Given the description of an element on the screen output the (x, y) to click on. 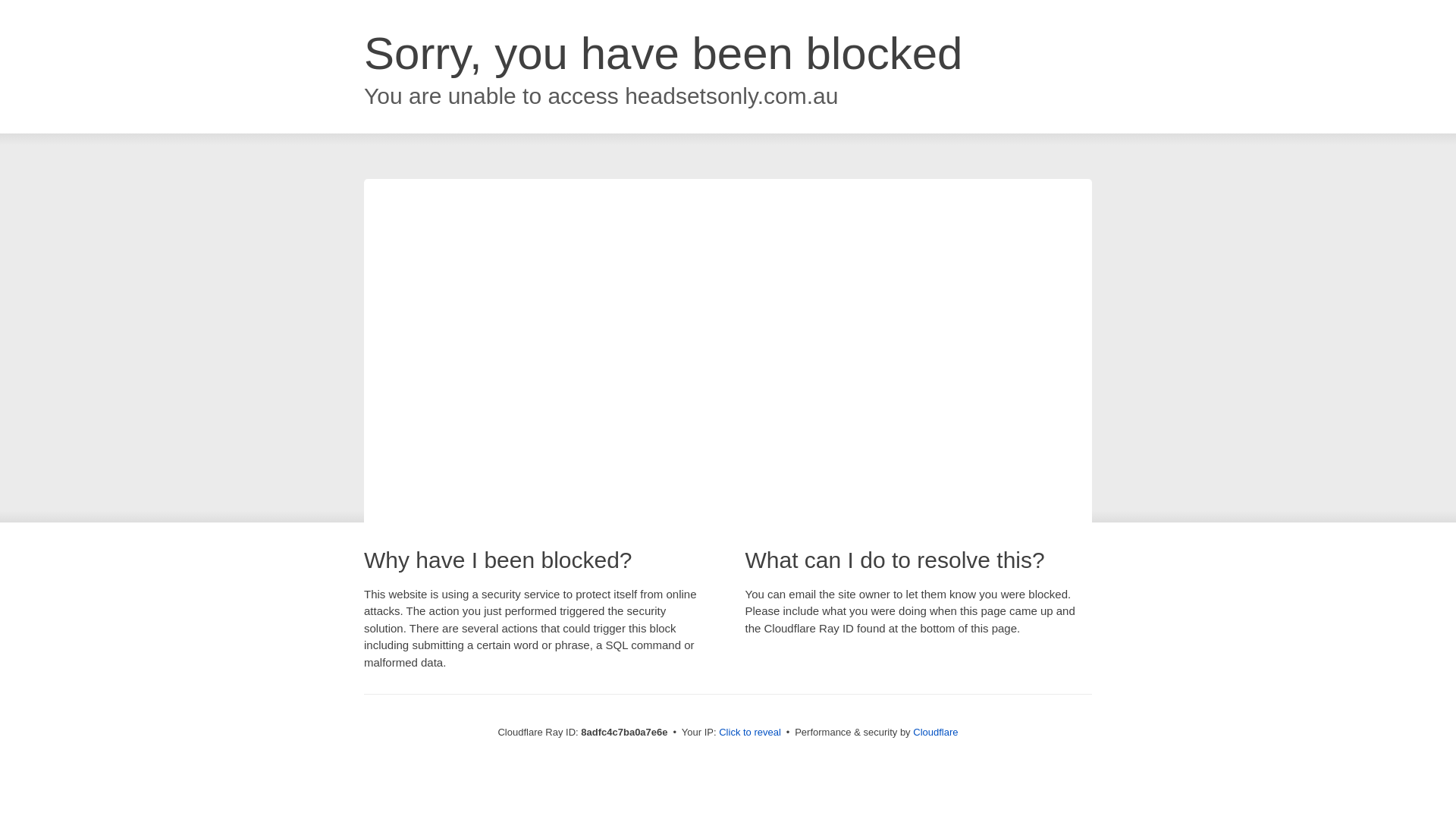
Click to reveal (749, 732)
Cloudflare (935, 731)
